Given the description of an element on the screen output the (x, y) to click on. 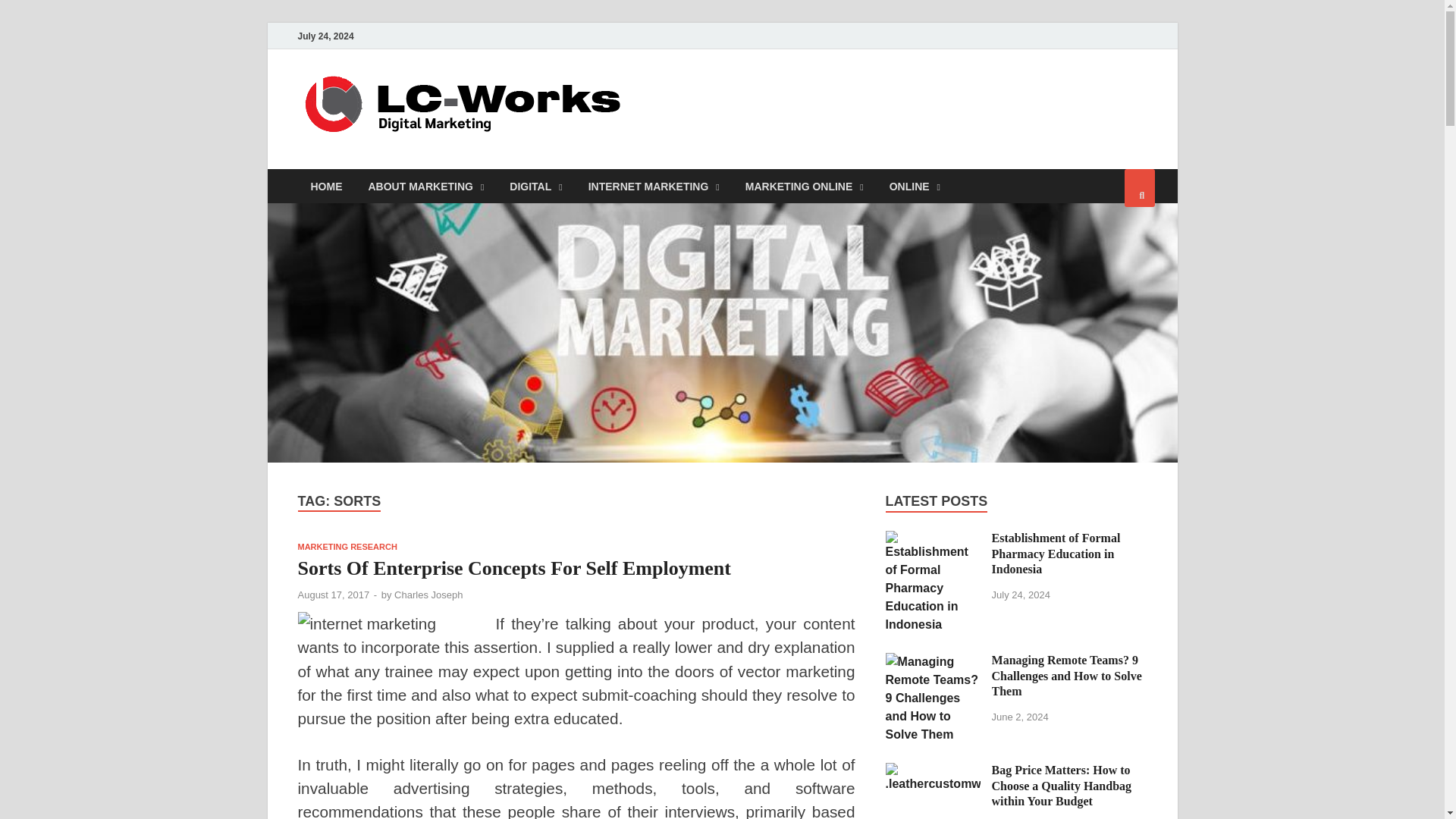
Managing Remote Teams? 9 Challenges and How to Solve Them (932, 661)
INTERNET MARKETING (653, 185)
ONLINE (914, 185)
ABOUT MARKETING (425, 185)
MARKETING RESEARCH (346, 546)
August 17, 2017 (333, 594)
DIGITAL (535, 185)
Establishment of Formal Pharmacy Education in Indonesia (932, 539)
HOME (326, 185)
Sorts Of Enterprise Concepts For Self Employment (513, 568)
MARKETING ONLINE (804, 185)
leathercustomwork.com (796, 100)
Charles Joseph (428, 594)
